Given the description of an element on the screen output the (x, y) to click on. 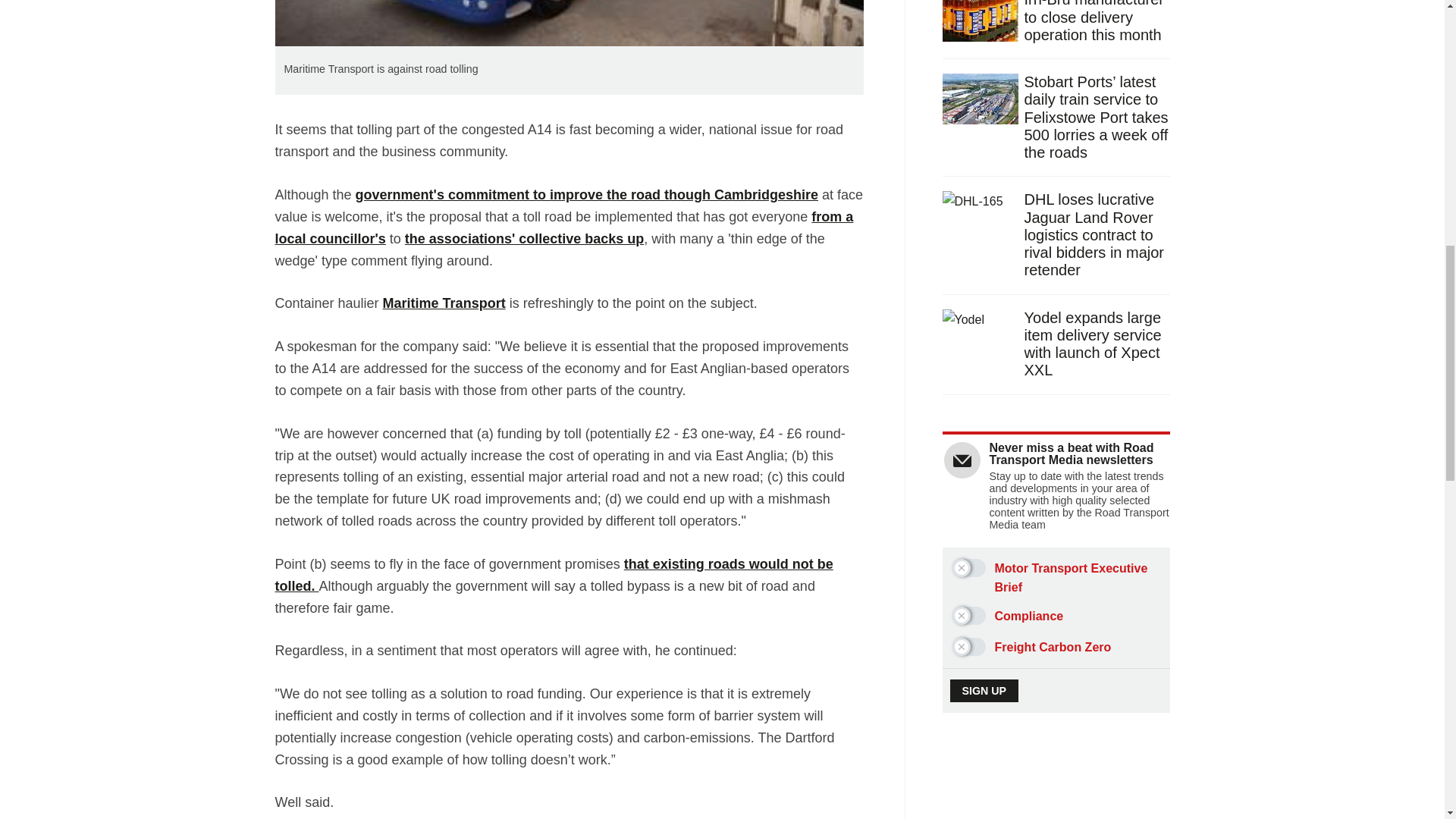
3rd party ad content (1056, 796)
